Given the description of an element on the screen output the (x, y) to click on. 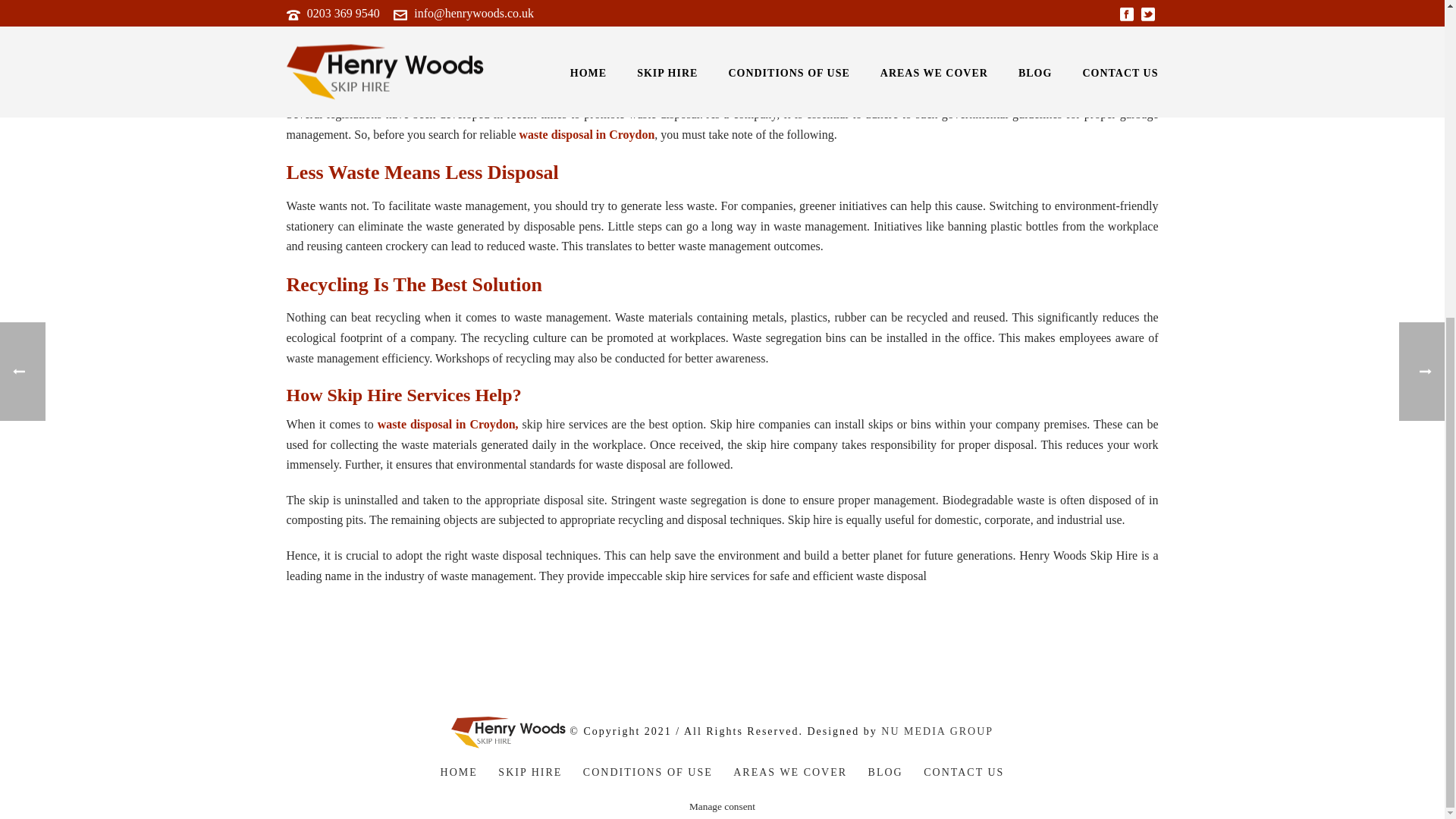
AREAS WE COVER (790, 772)
henry (311, 17)
Posts by henry (311, 17)
NU MEDIA GROUP (936, 731)
Waste Disposal (513, 17)
waste disposal in Croydon (585, 133)
SKIP HIRE (529, 772)
CONTACT US (963, 772)
July 29, 2020 (390, 17)
HOME (459, 772)
